Given the description of an element on the screen output the (x, y) to click on. 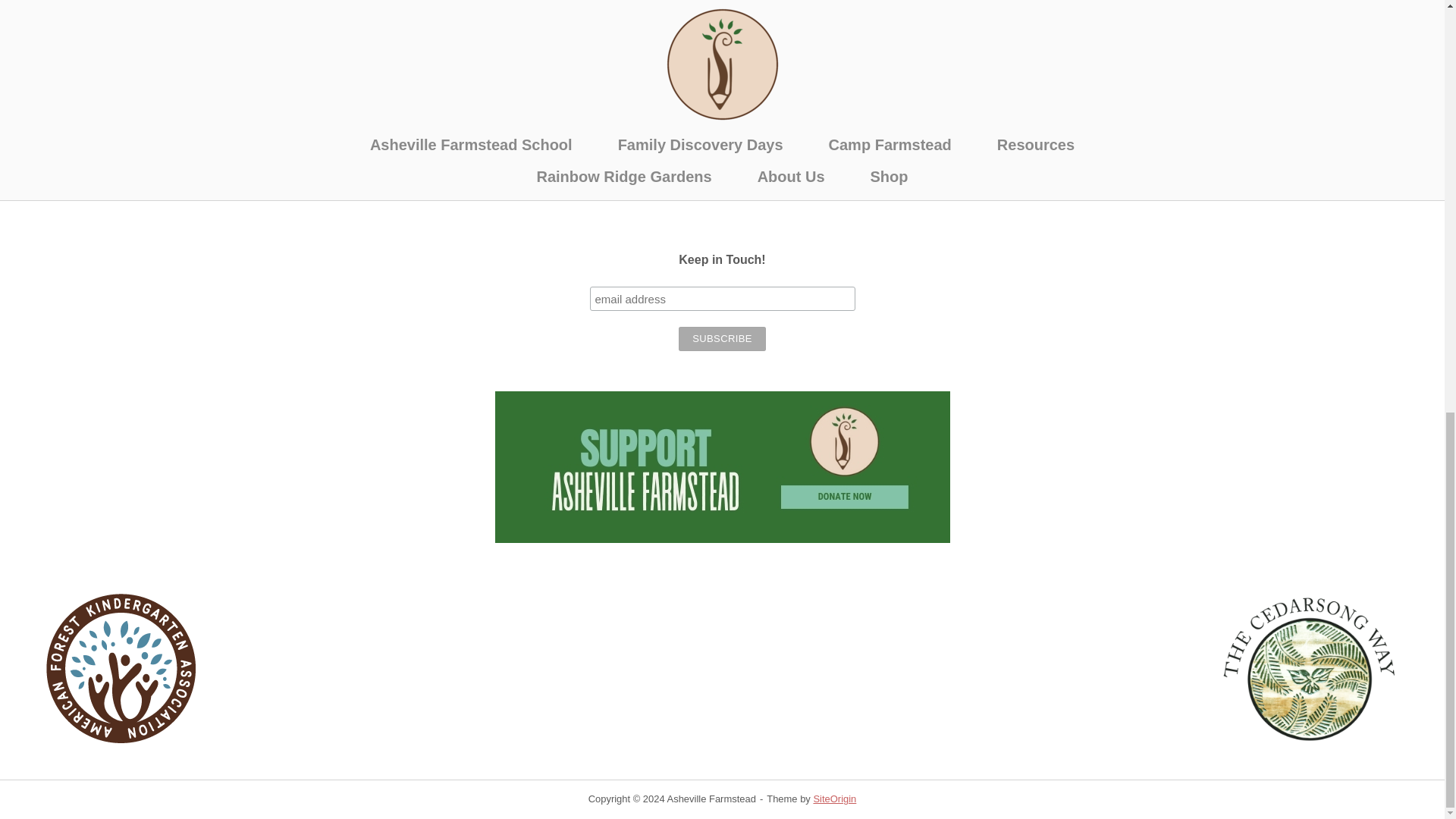
Subscribe (721, 338)
SiteOrigin (834, 798)
Subscribe (721, 338)
Post Comment (403, 162)
yes (347, 129)
Post Comment (403, 162)
